Given the description of an element on the screen output the (x, y) to click on. 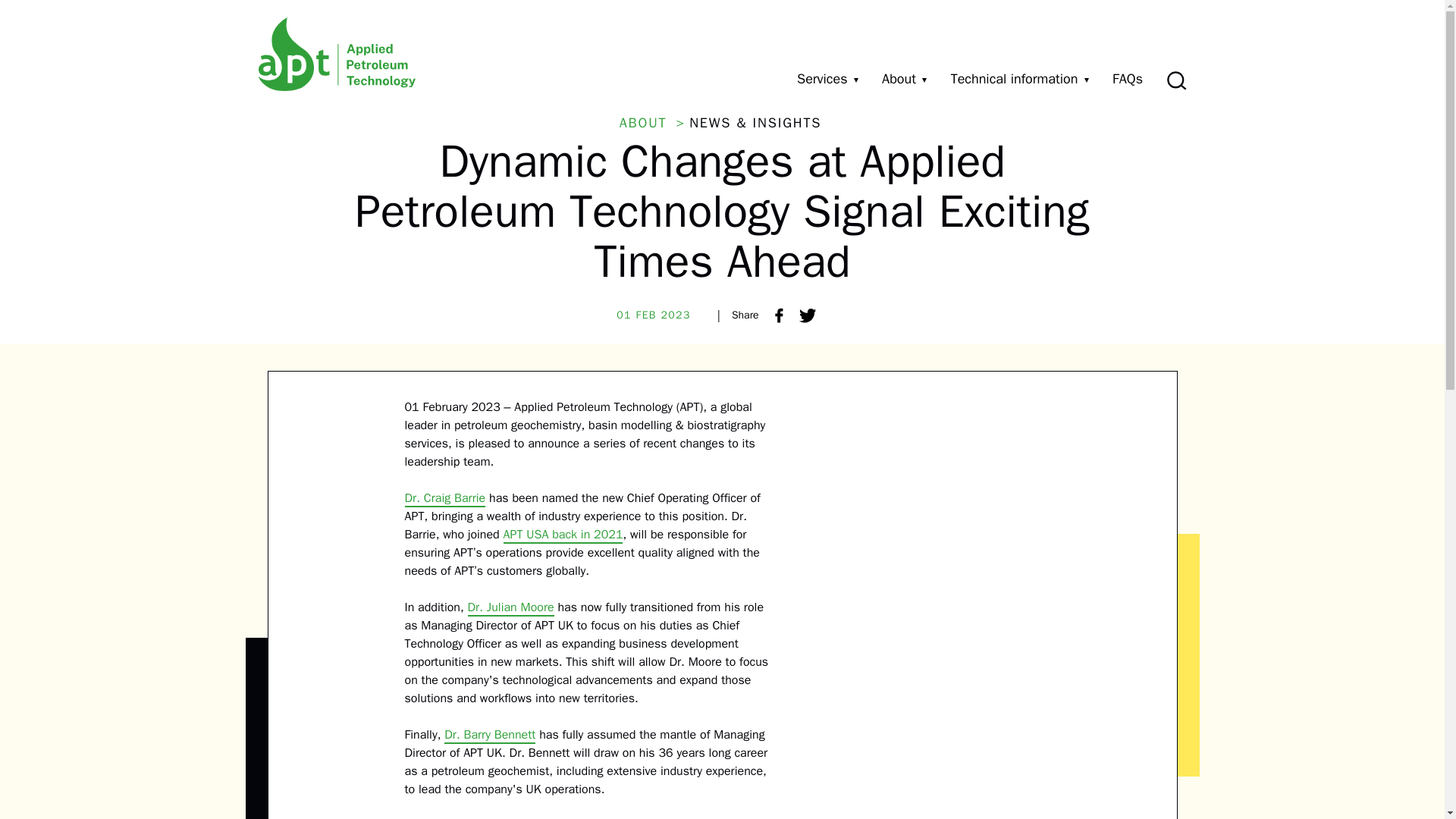
Services (827, 79)
About (904, 79)
Technical information (1019, 79)
FAQs (1127, 79)
